Given the description of an element on the screen output the (x, y) to click on. 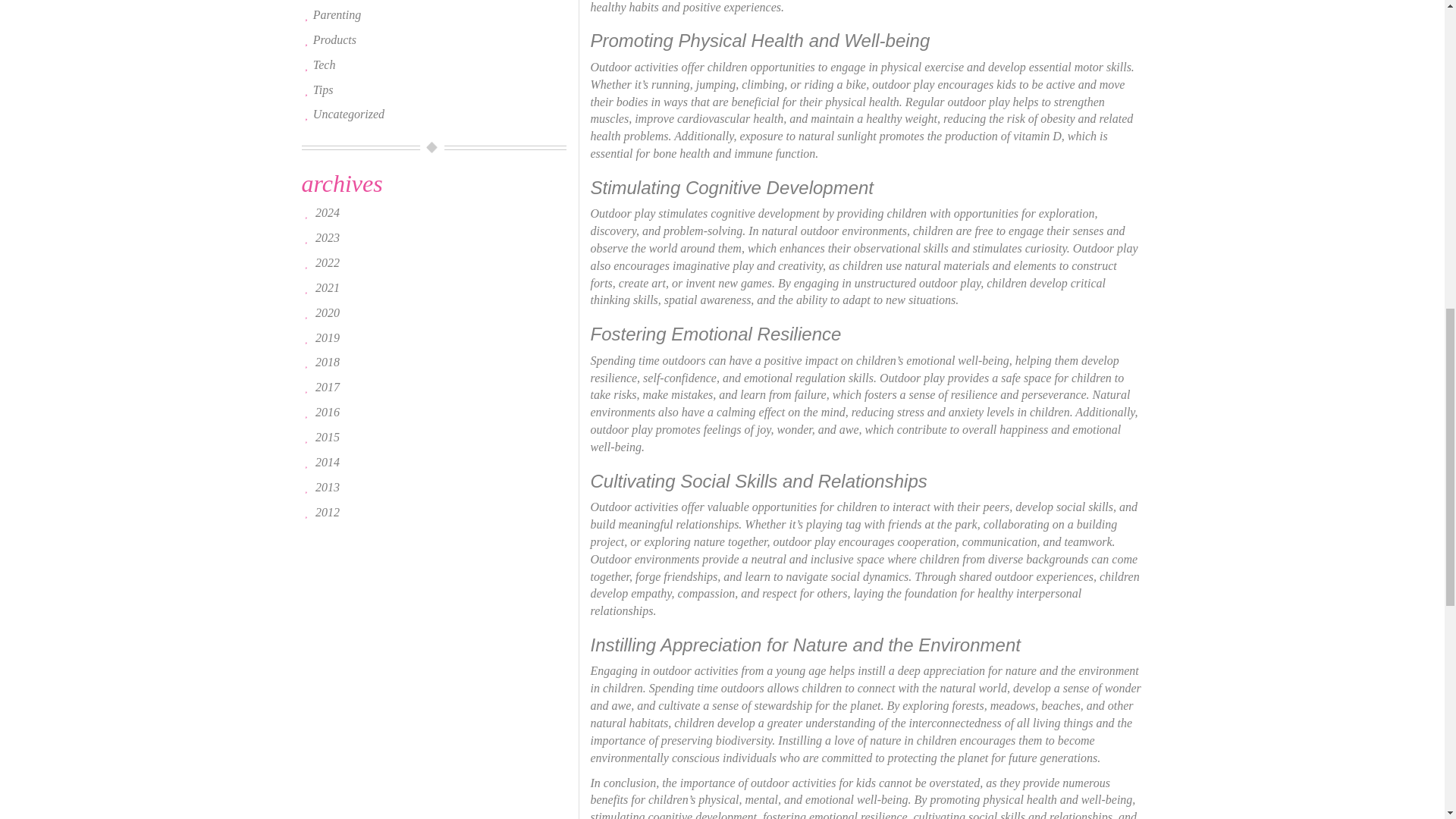
2022 (327, 262)
Tech (324, 64)
2024 (327, 212)
Parenting (337, 14)
Tips (323, 89)
2023 (327, 237)
Uncategorized (348, 113)
Products (334, 39)
